Given the description of an element on the screen output the (x, y) to click on. 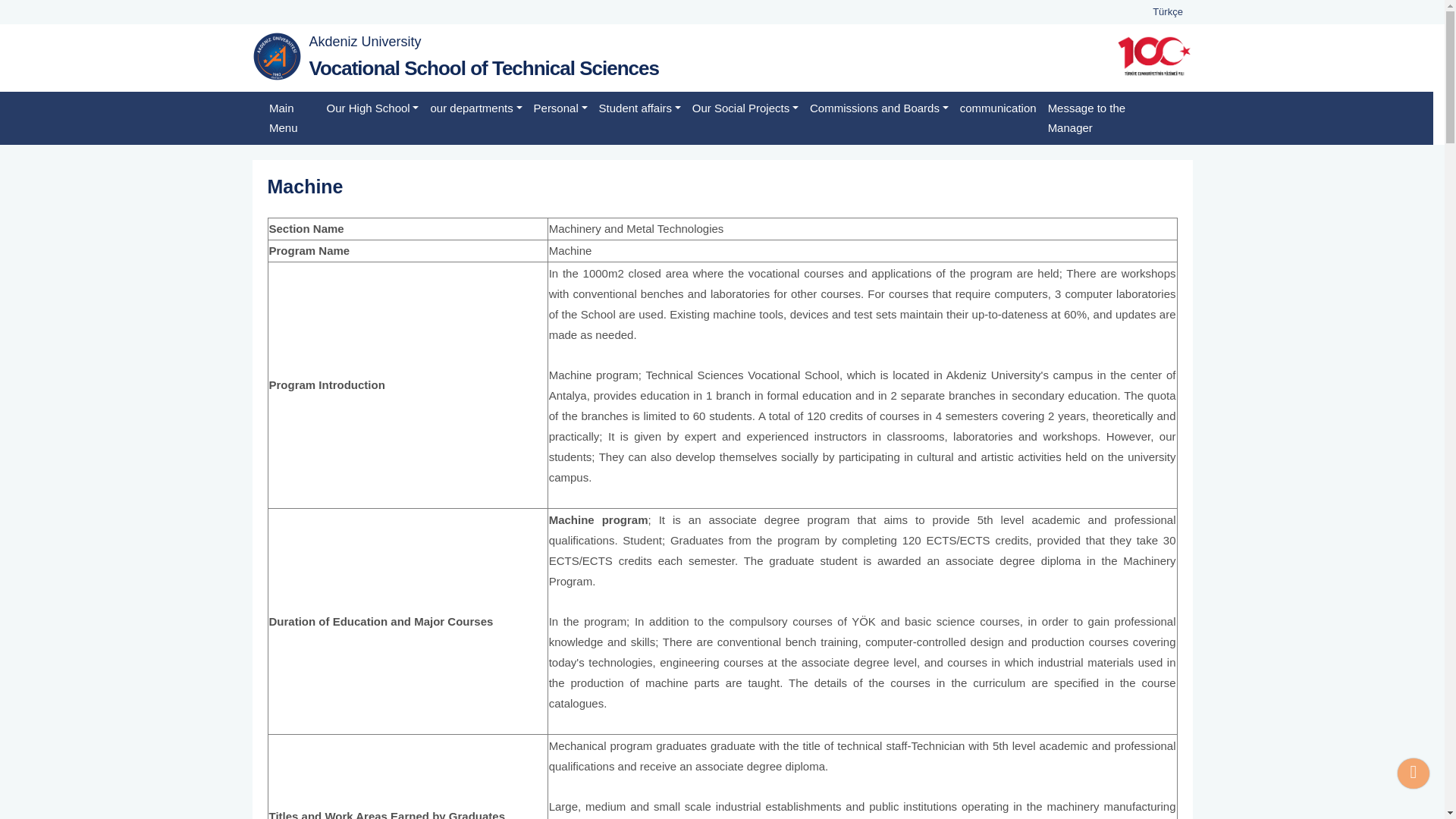
Main Menu (292, 117)
Akdeniz University (365, 41)
Vocational School of Technical Sciences (483, 67)
Our High School (372, 107)
our departments (476, 107)
